Given the description of an element on the screen output the (x, y) to click on. 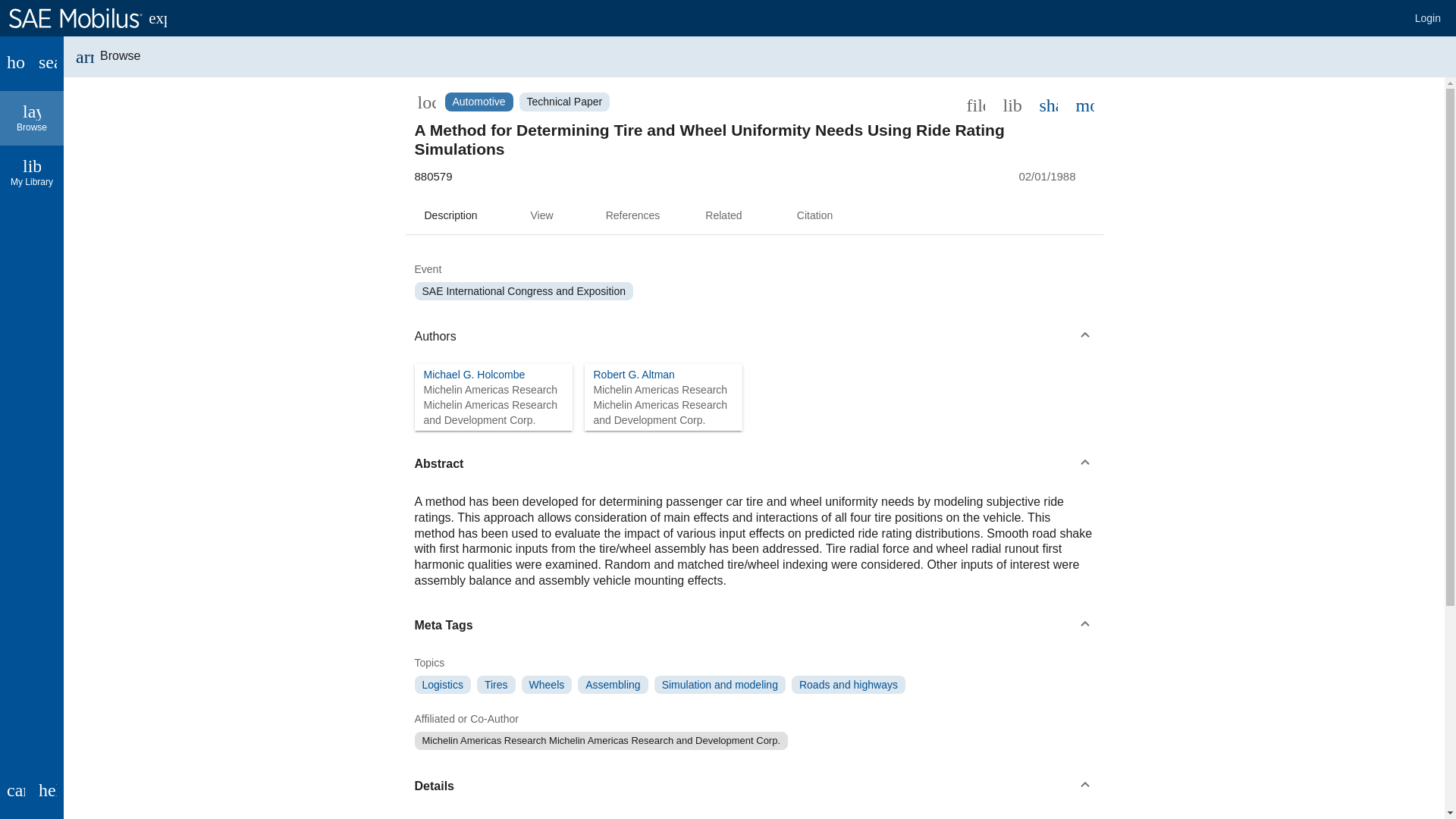
Home (32, 117)
Login (16, 63)
Simulation and modeling (1428, 17)
Technical Paper (719, 684)
Wheels (564, 101)
Search (546, 684)
References (48, 63)
Michael G. Holcombe (632, 216)
Robert G. Altman (473, 374)
Automotive (633, 374)
Roads and highways (478, 101)
Logistics (848, 684)
